Given the description of an element on the screen output the (x, y) to click on. 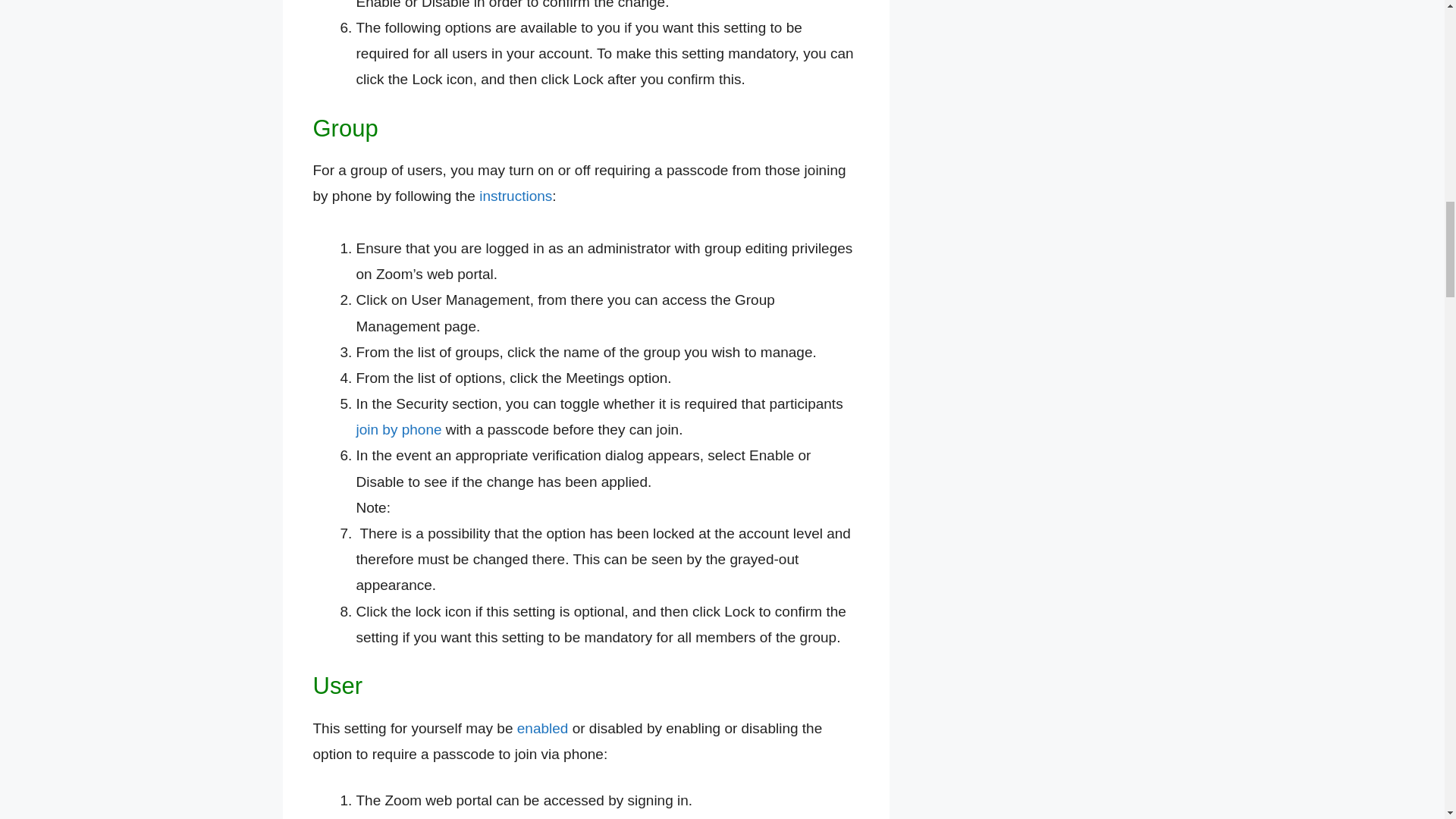
join by phone (399, 429)
enabled (542, 728)
instructions (515, 195)
